Given the description of an element on the screen output the (x, y) to click on. 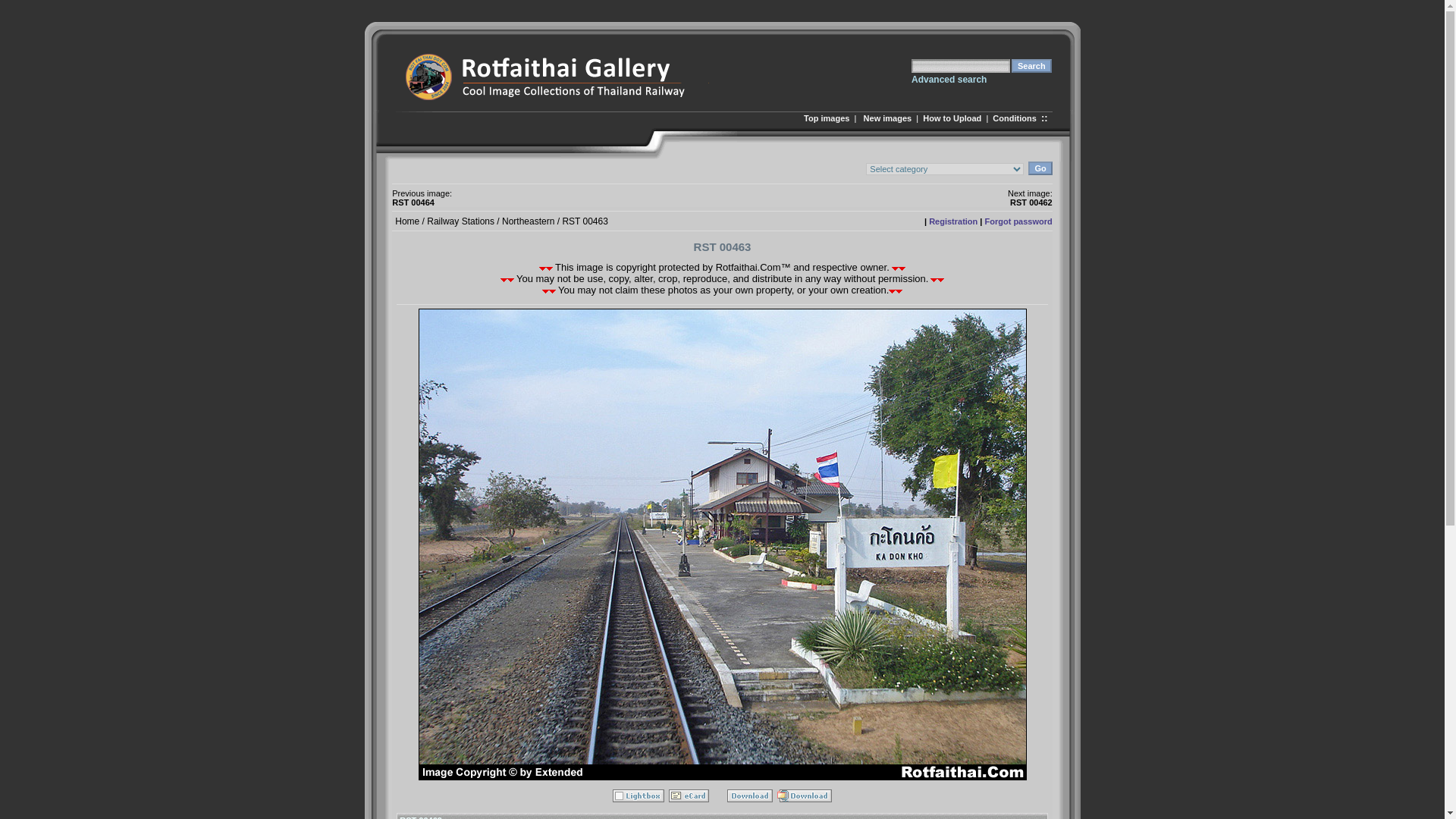
Northeastern (528, 220)
Railway Stations (460, 220)
How to Upload (952, 117)
Conditions (1013, 117)
RST 00464 (412, 201)
Registration (952, 221)
Go (1039, 168)
Search (1031, 65)
Search (1031, 65)
Top images (825, 117)
Home (406, 220)
Advanced search (949, 79)
Go (1039, 168)
Forgot password (1018, 221)
RST 00462 (1031, 201)
